Given the description of an element on the screen output the (x, y) to click on. 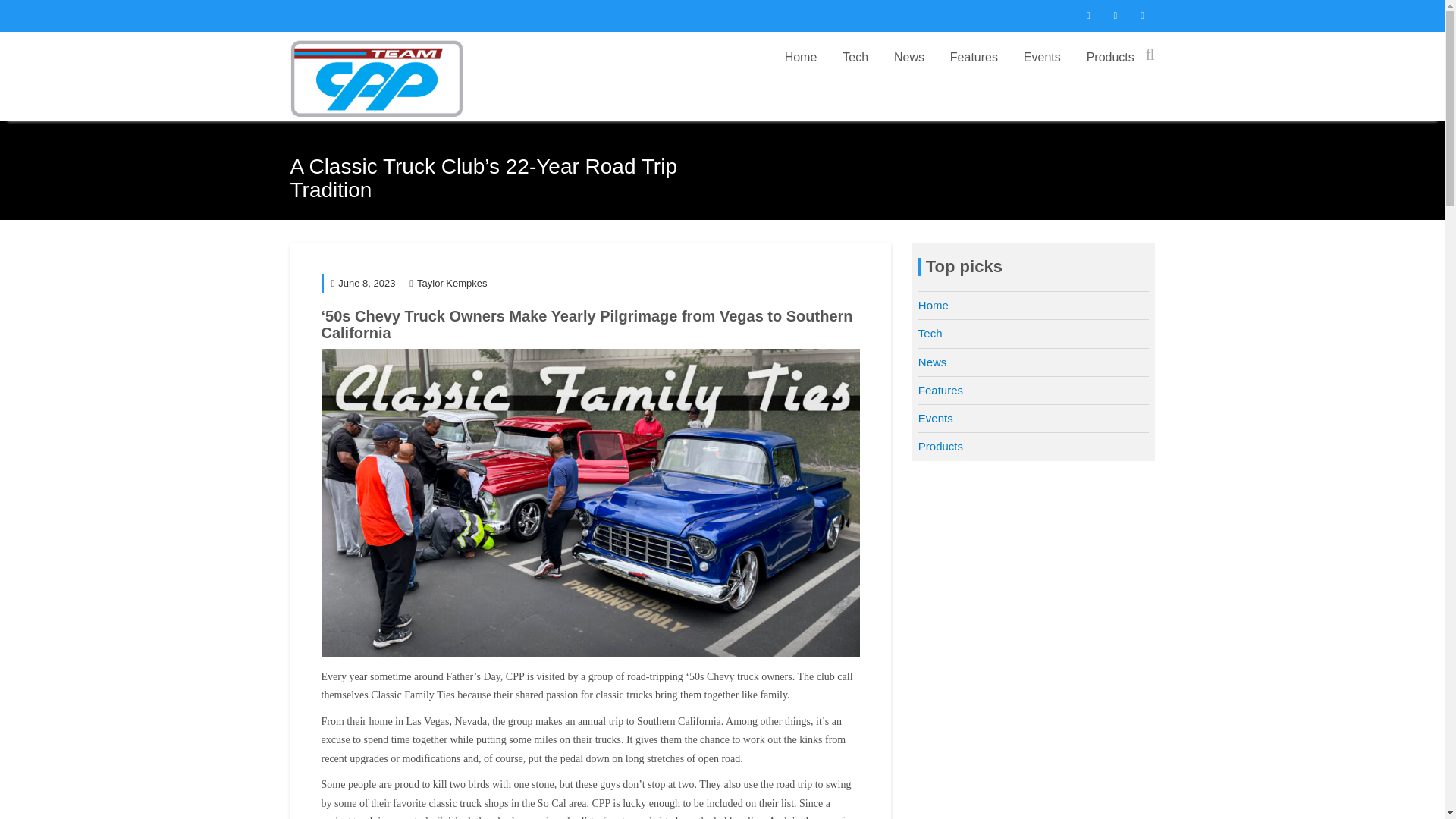
Events (1041, 57)
June 8, 2023 (362, 283)
News (909, 57)
Taylor Kempkes (447, 283)
Products (1110, 57)
Facebook (1087, 15)
Features (974, 57)
Tech (855, 57)
Instagram (1114, 15)
Youtube (1141, 15)
